Given the description of an element on the screen output the (x, y) to click on. 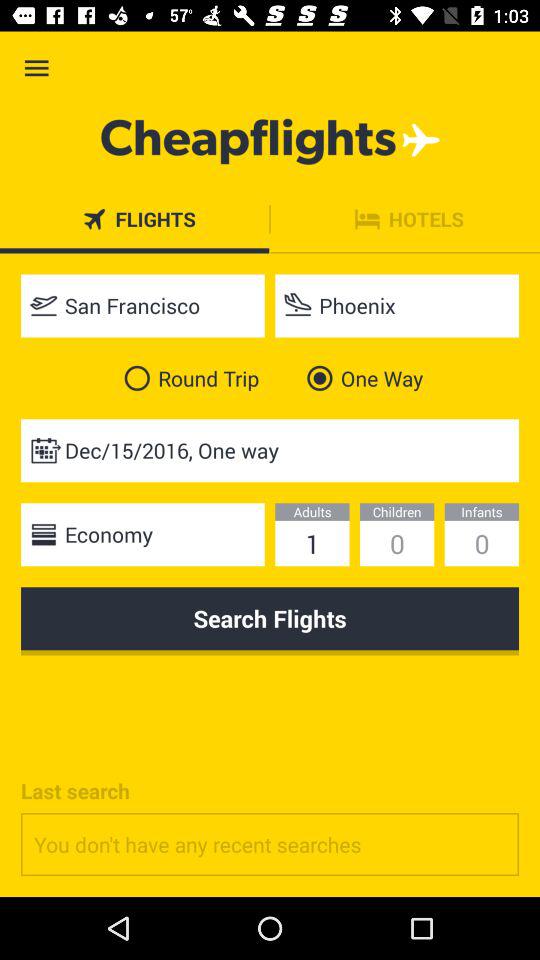
jump until the round trip item (187, 378)
